Given the description of an element on the screen output the (x, y) to click on. 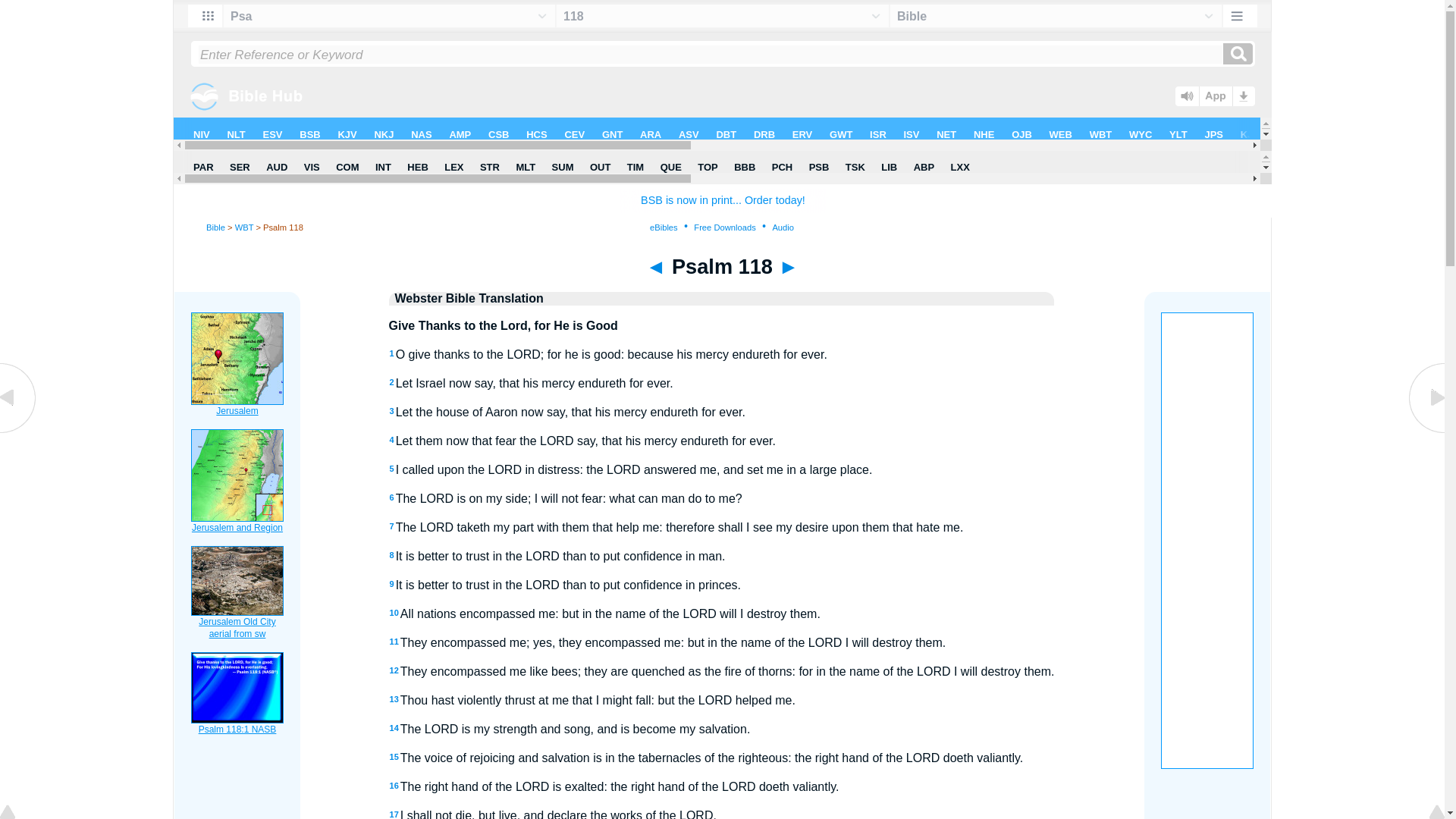
Top of Page (18, 813)
12 (394, 669)
15 (394, 756)
16 (394, 785)
Bible (215, 226)
10 (394, 612)
WBT (243, 226)
13 (394, 698)
17 (394, 814)
14 (394, 727)
11 (394, 641)
Psalm 117 (18, 431)
